Given the description of an element on the screen output the (x, y) to click on. 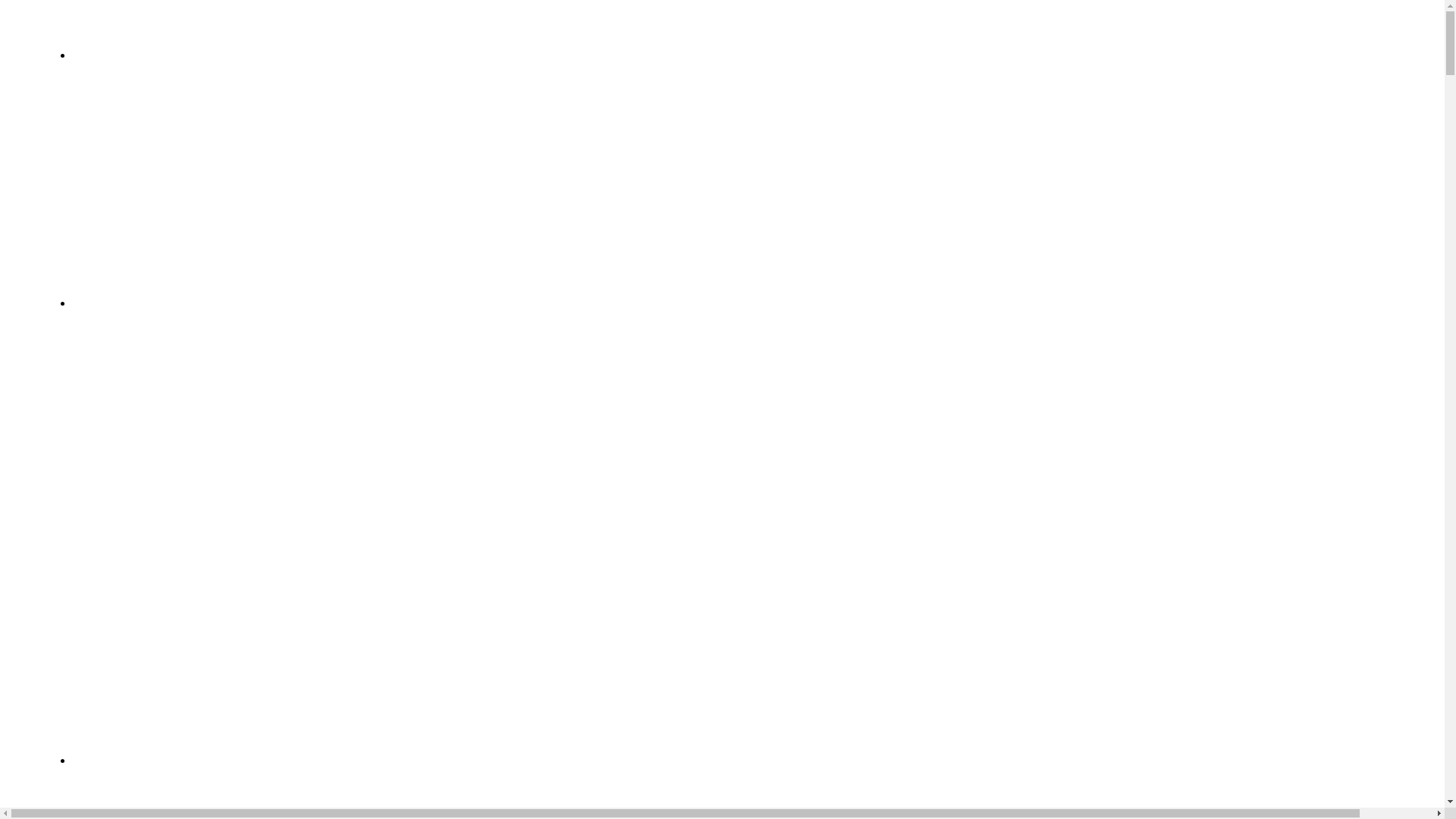
What we do Element type: text (113, 301)
Who we are Element type: text (113, 53)
How we do it Element type: text (117, 758)
